Given the description of an element on the screen output the (x, y) to click on. 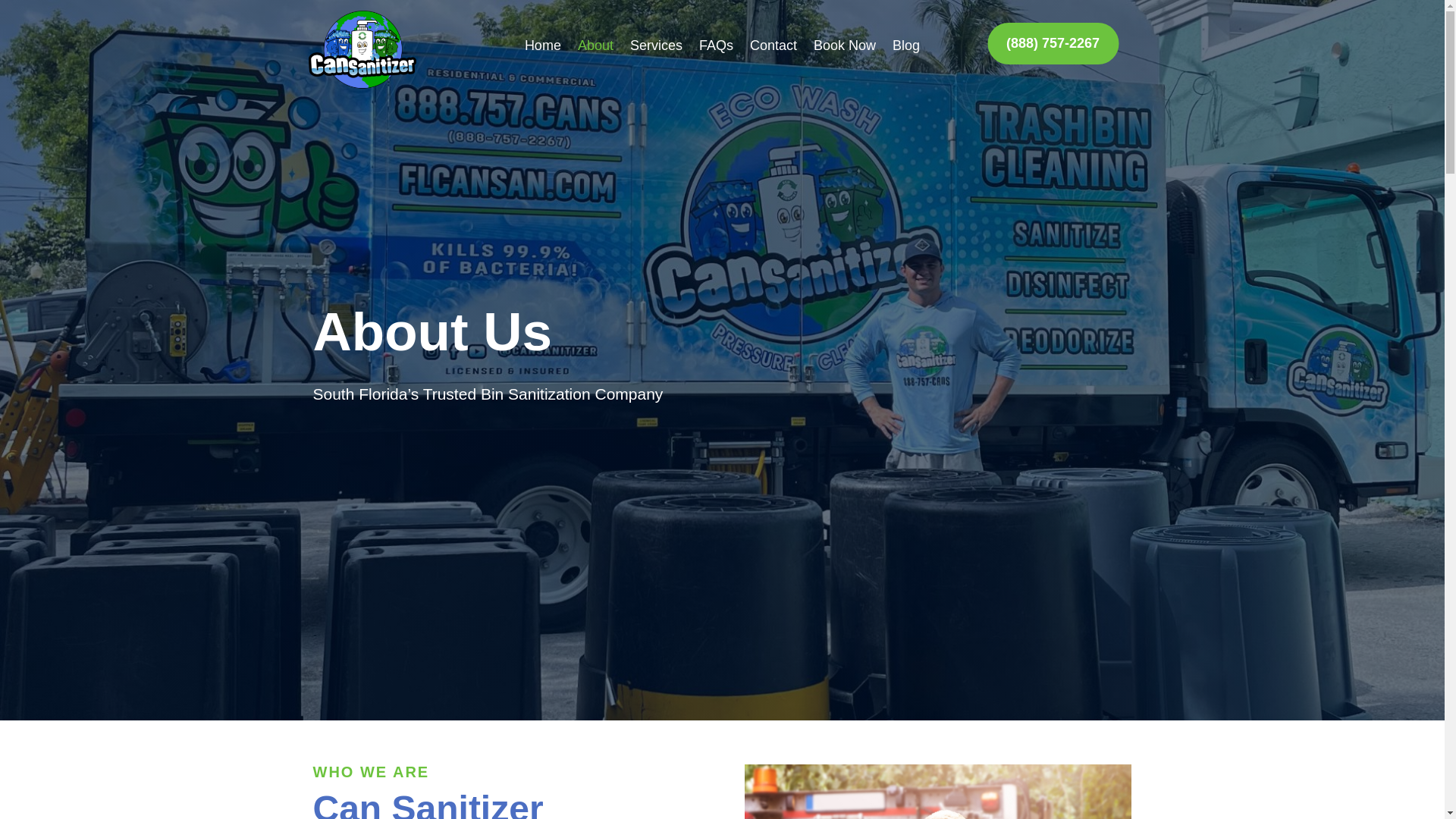
Contact (772, 48)
Blog (906, 48)
Services (656, 48)
Home (542, 48)
About (595, 48)
Book Now (844, 48)
502833694 (937, 791)
FAQs (715, 48)
